Given the description of an element on the screen output the (x, y) to click on. 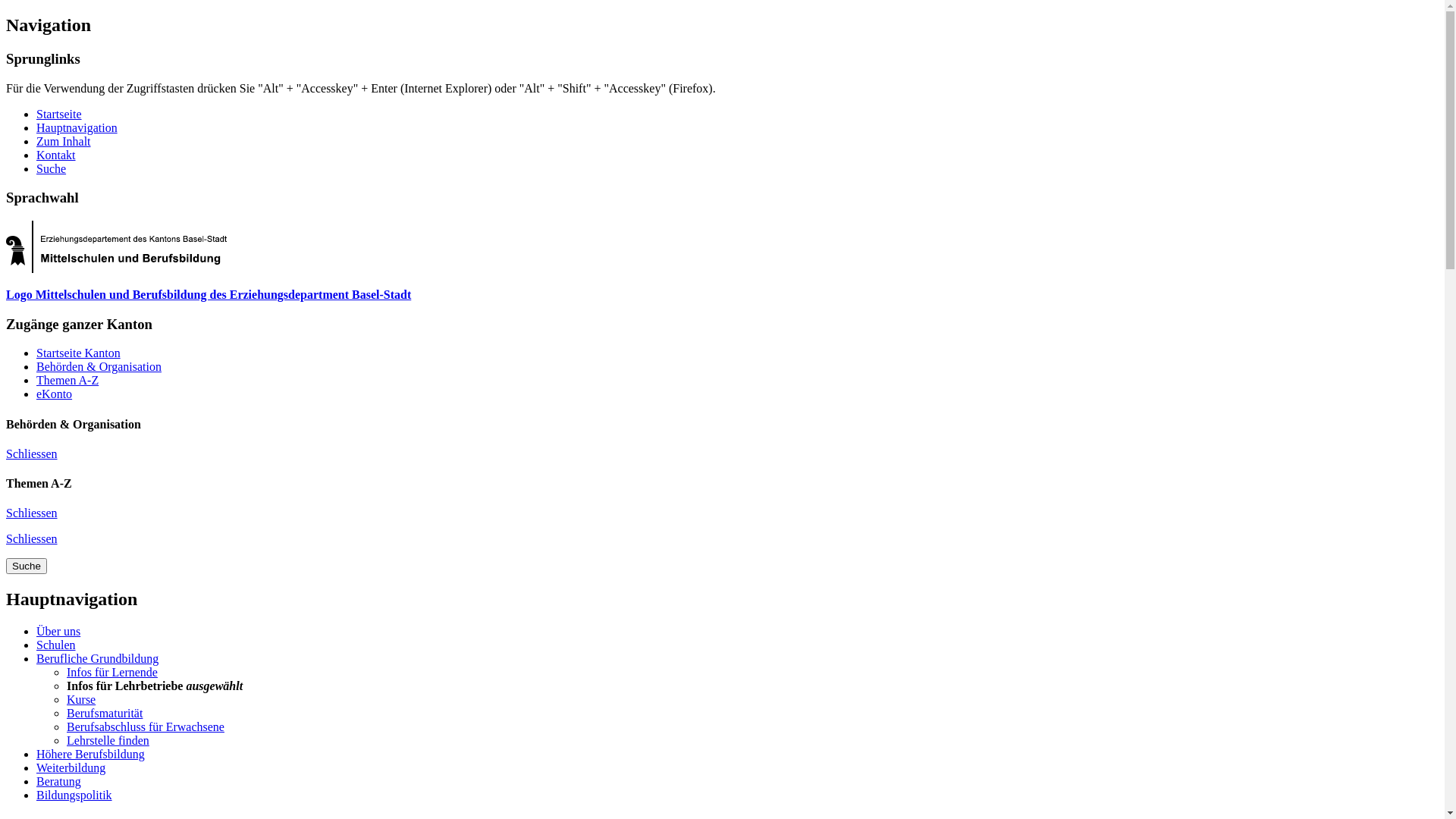
Hauptnavigation Element type: text (76, 127)
Startseite Element type: text (58, 113)
Beratung Element type: text (58, 781)
Schliessen Element type: text (31, 538)
Schulen Element type: text (55, 644)
Kontakt Element type: text (55, 154)
Schliessen Element type: text (31, 512)
Zum Inhalt Element type: text (63, 140)
Suche Element type: text (26, 566)
Schliessen Element type: text (31, 453)
Lehrstelle finden Element type: text (107, 740)
eKonto Element type: text (54, 393)
Weiterbildung Element type: text (70, 767)
Berufliche Grundbildung Element type: text (97, 658)
Bildungspolitik Element type: text (74, 794)
Themen A-Z Element type: text (67, 379)
Startseite Kanton Element type: text (78, 352)
Kurse Element type: text (80, 699)
Suche Element type: text (50, 168)
